Given the description of an element on the screen output the (x, y) to click on. 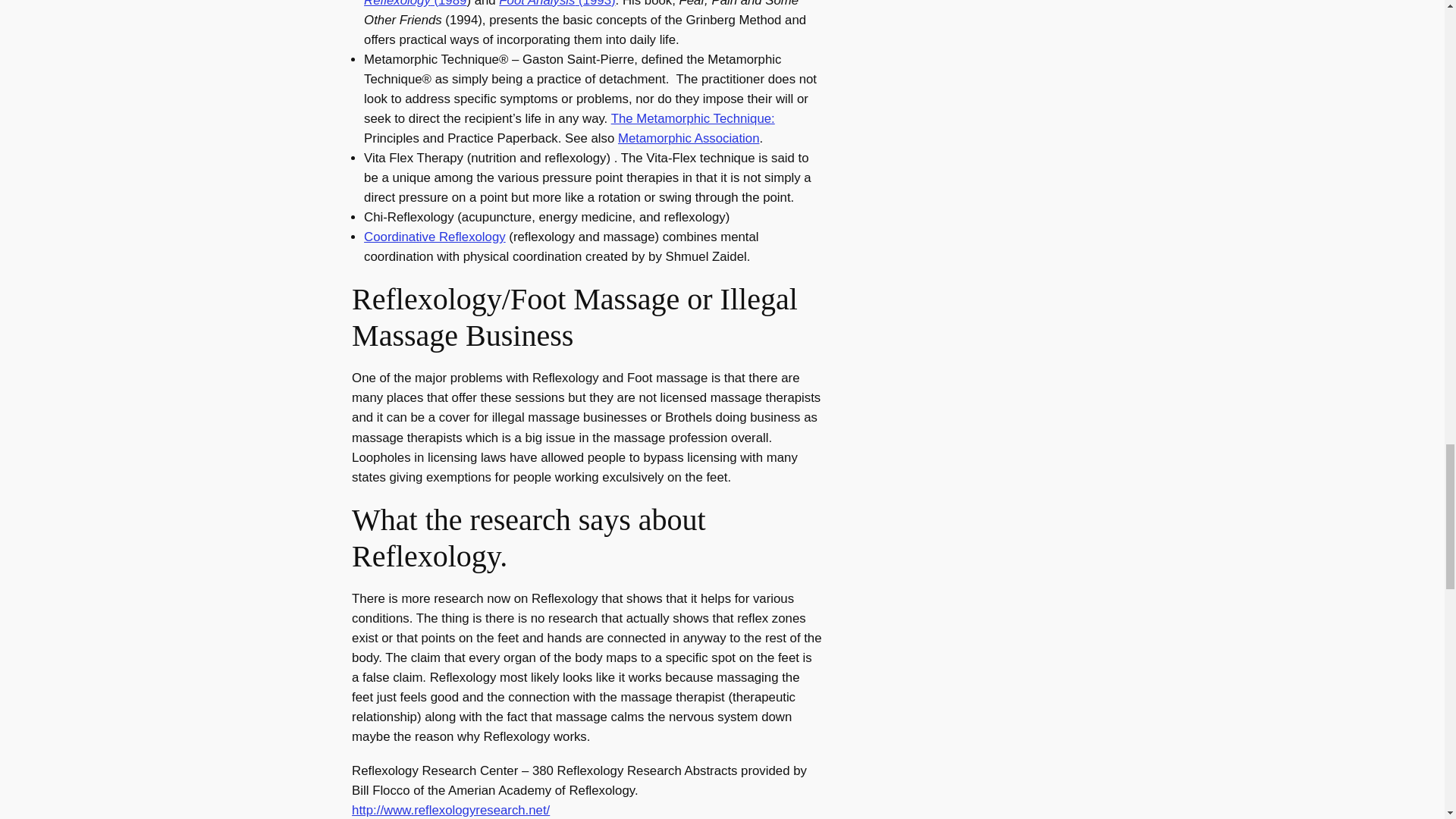
Coordinative Reflexology (434, 237)
Metamorphic Association (688, 138)
The Metamorphic Technique: (692, 118)
